Given the description of an element on the screen output the (x, y) to click on. 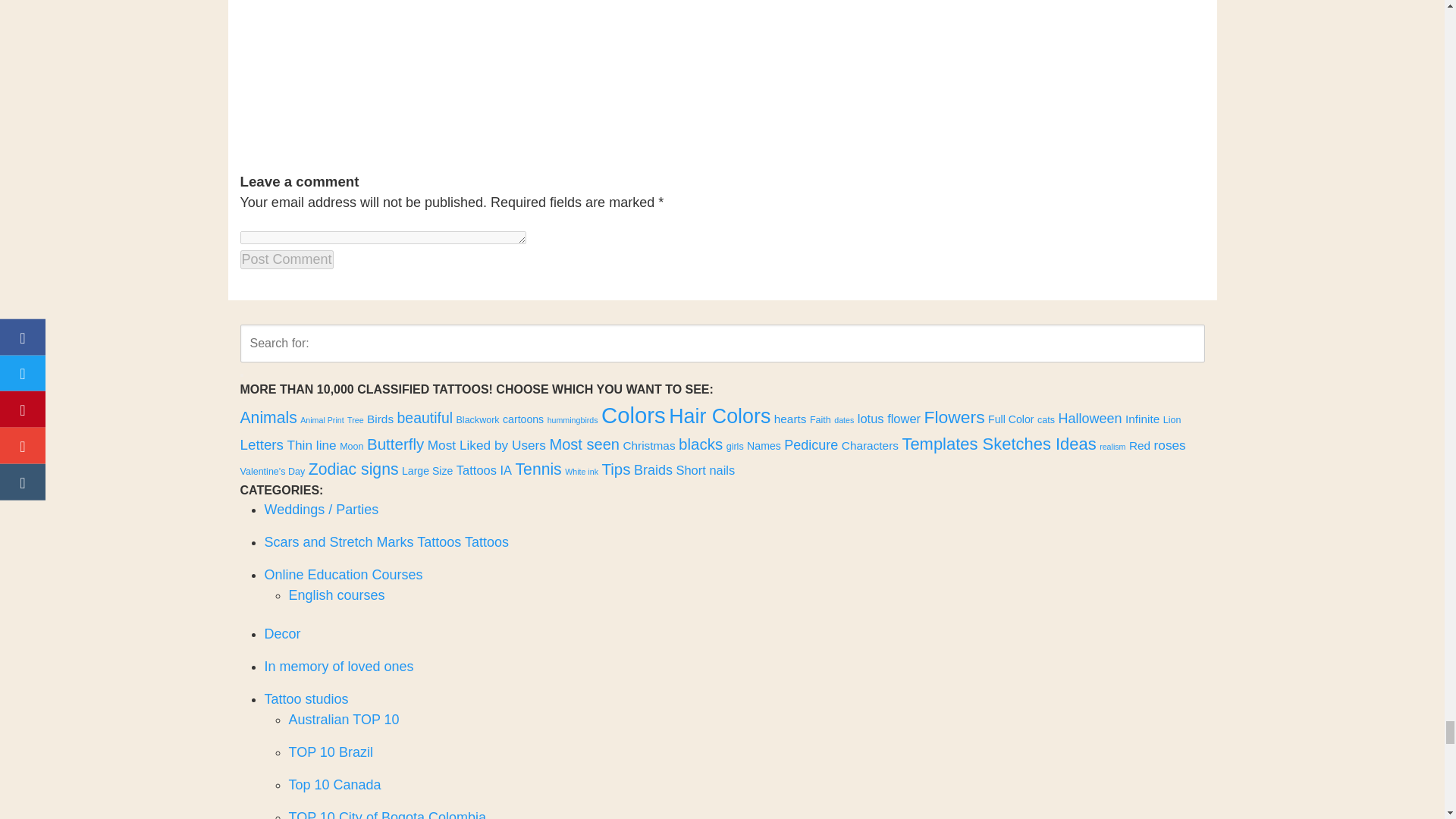
Post Comment (286, 259)
